Given the description of an element on the screen output the (x, y) to click on. 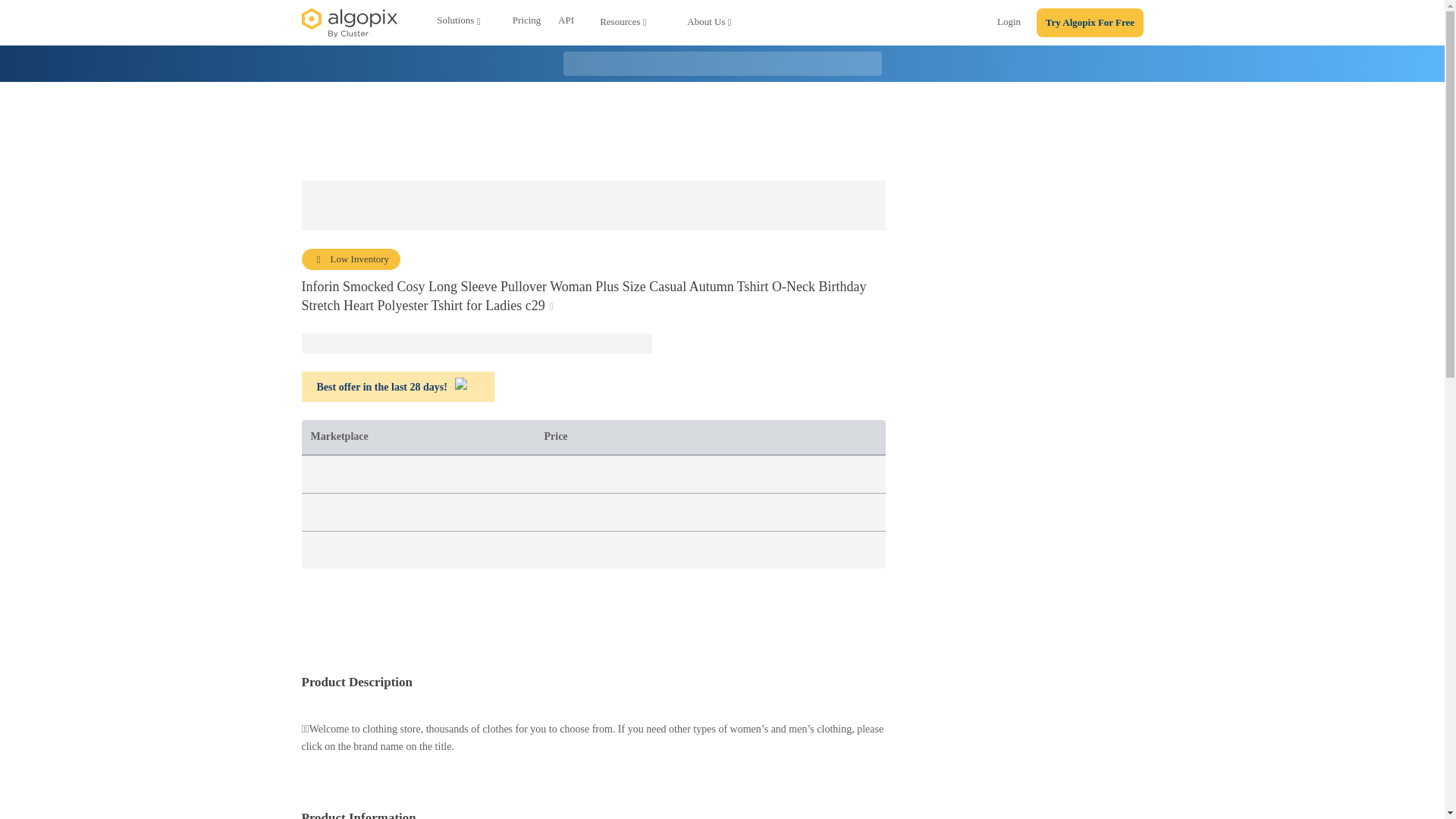
Login (1008, 24)
Try Algopix For Free (1089, 22)
Pricing (525, 22)
API (566, 22)
